Given the description of an element on the screen output the (x, y) to click on. 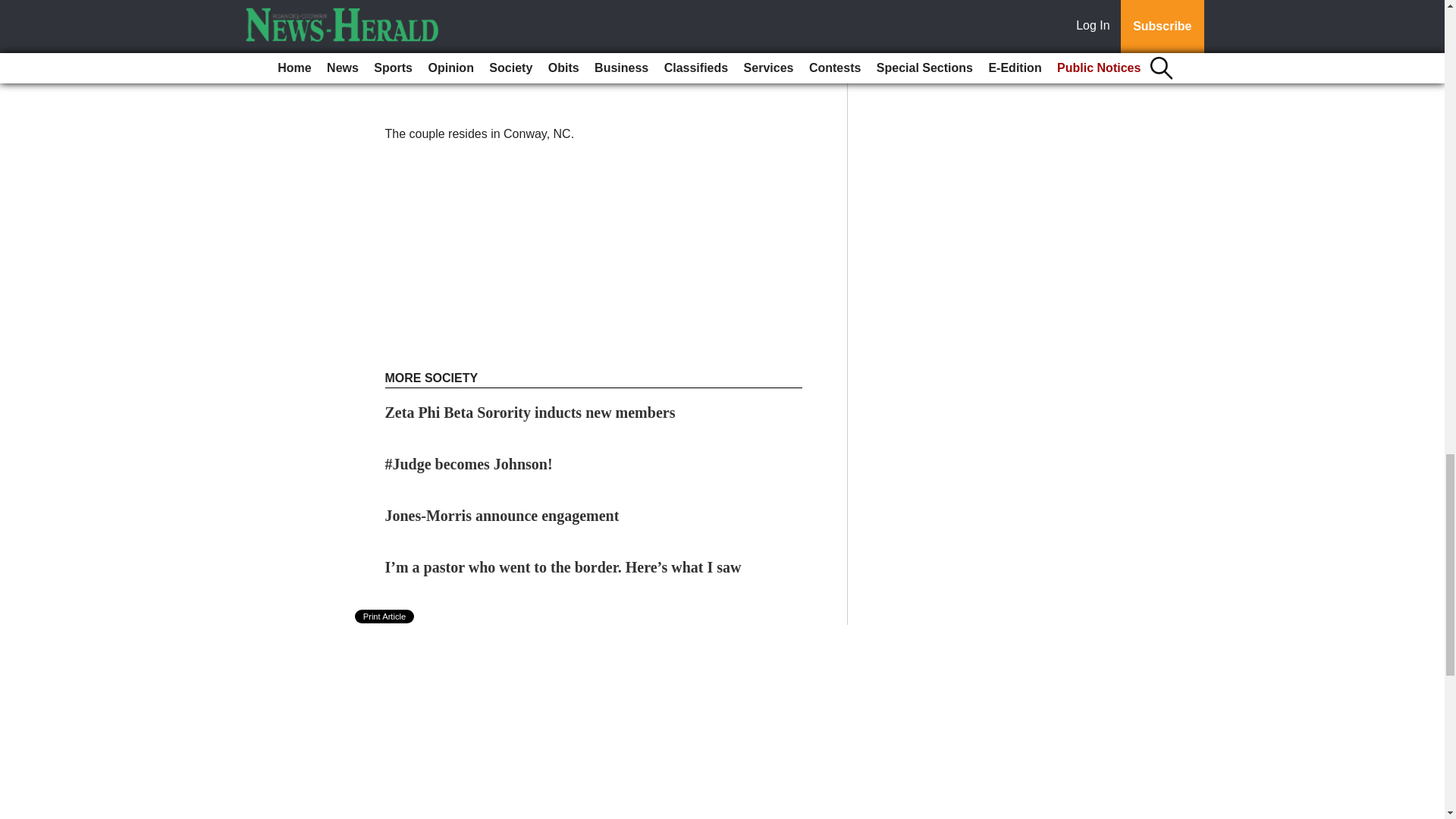
Jones-Morris announce engagement (502, 515)
Jones-Morris announce engagement (502, 515)
Print Article (384, 616)
Zeta Phi Beta Sorority inducts new members (530, 412)
Zeta Phi Beta Sorority inducts new members (530, 412)
